Given the description of an element on the screen output the (x, y) to click on. 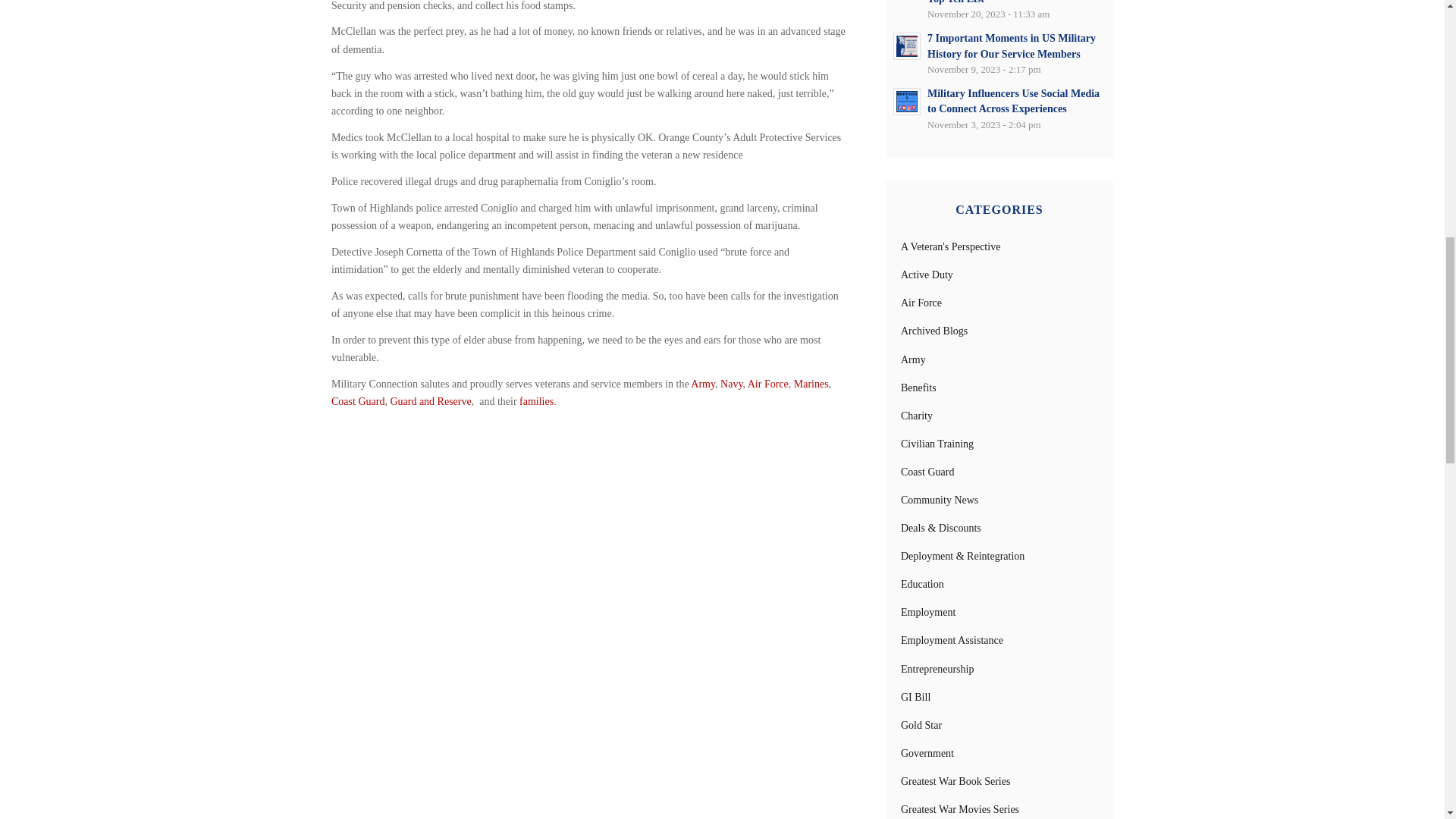
Coast Guard (927, 471)
Coast Guard (357, 401)
families (536, 401)
Navy (731, 383)
A Veteran's Perspective (950, 246)
Marines (810, 383)
Guard and Reserve (430, 401)
Charity (917, 415)
Army (913, 359)
Air Force (768, 383)
Benefits (918, 387)
Active Duty (927, 274)
